Given the description of an element on the screen output the (x, y) to click on. 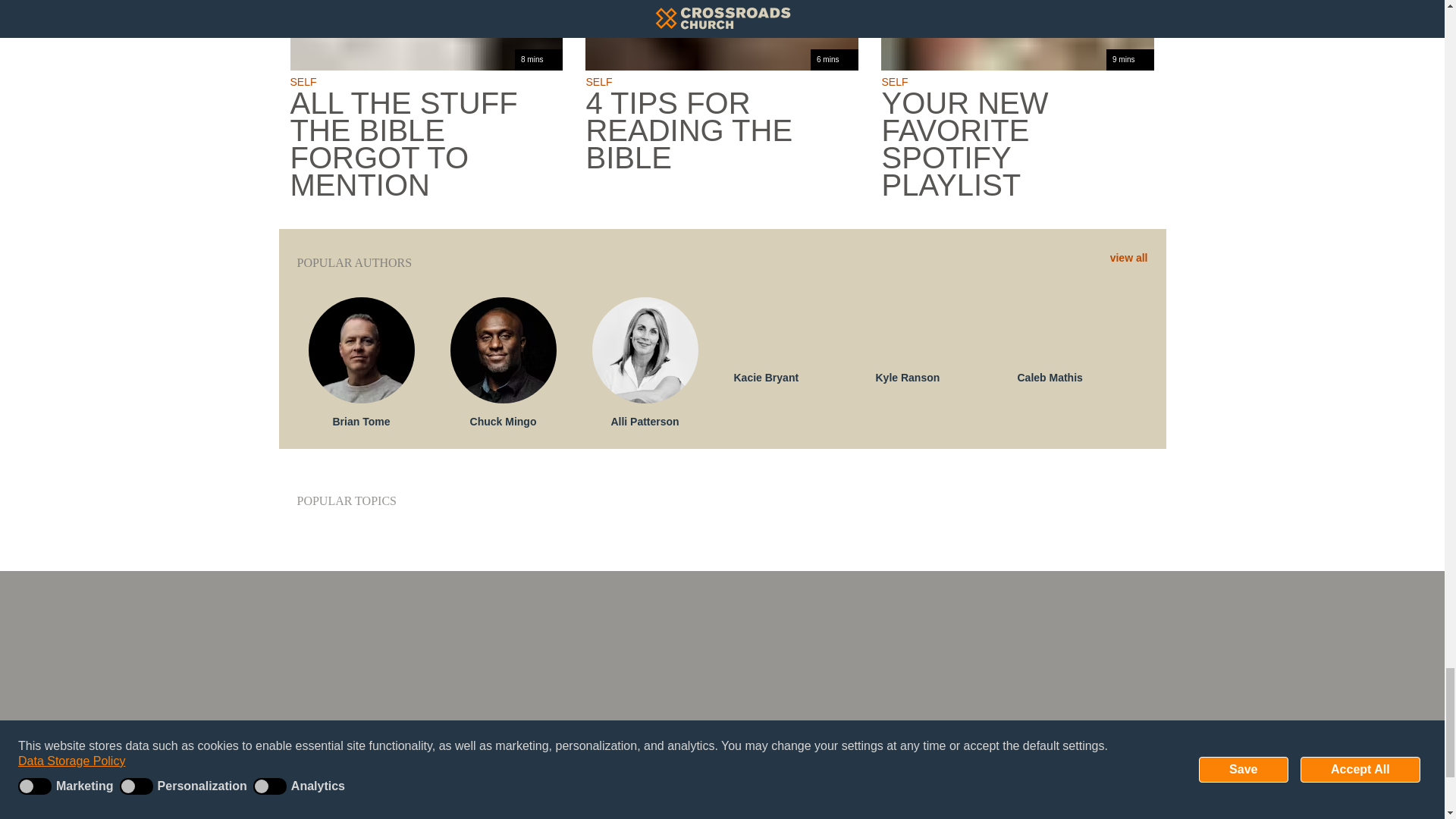
ALL THE STUFF THE BIBLE FORGOT TO MENTION (425, 144)
view all (1128, 258)
9 mins (1017, 34)
SELF (893, 81)
SELF (598, 81)
8 mins (425, 34)
4 TIPS FOR READING THE BIBLE (722, 130)
YOUR NEW FAVORITE SPOTIFY PLAYLIST (1017, 144)
SELF (302, 81)
6 mins (722, 34)
